Given the description of an element on the screen output the (x, y) to click on. 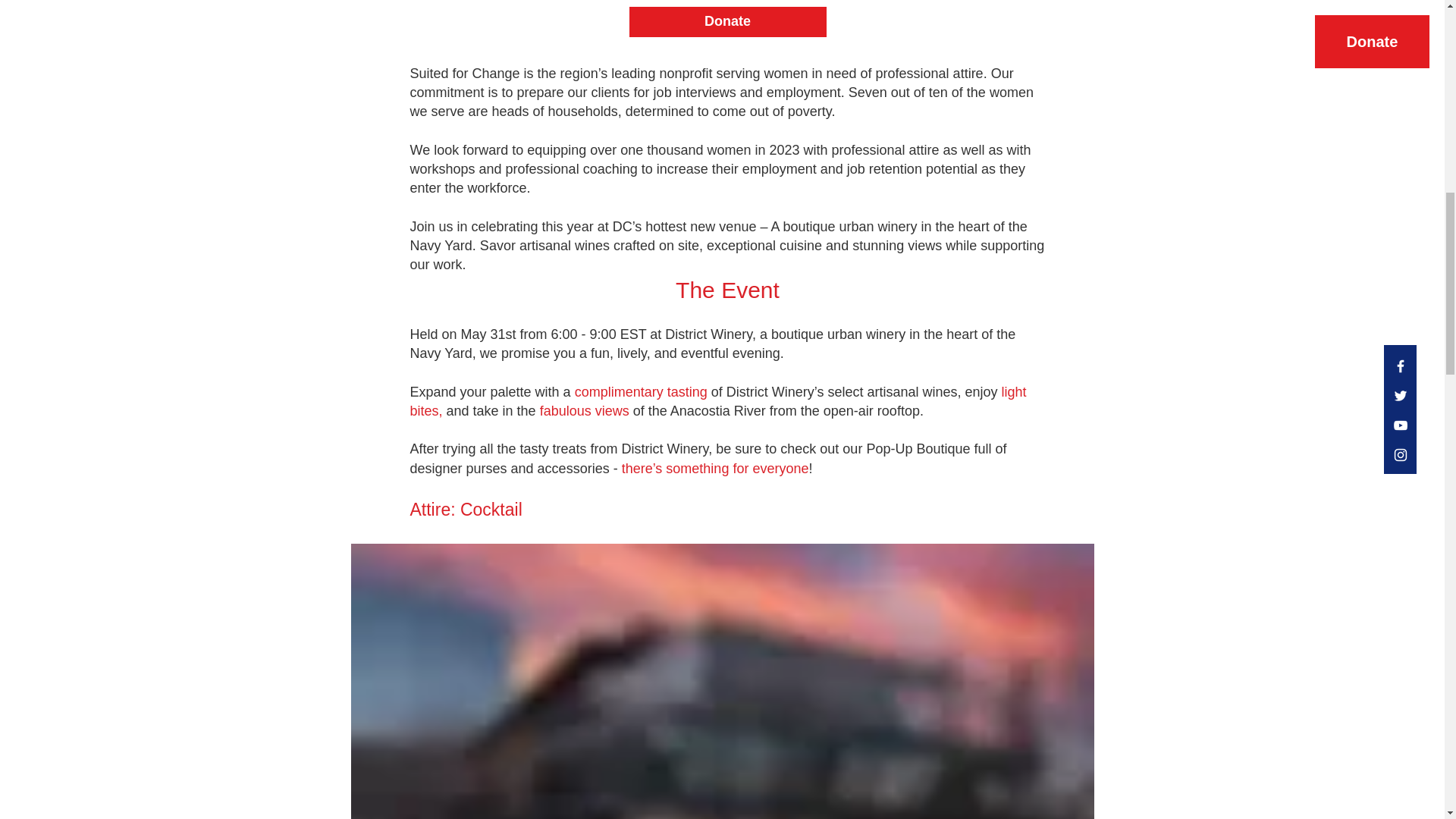
Donate (727, 21)
